Given the description of an element on the screen output the (x, y) to click on. 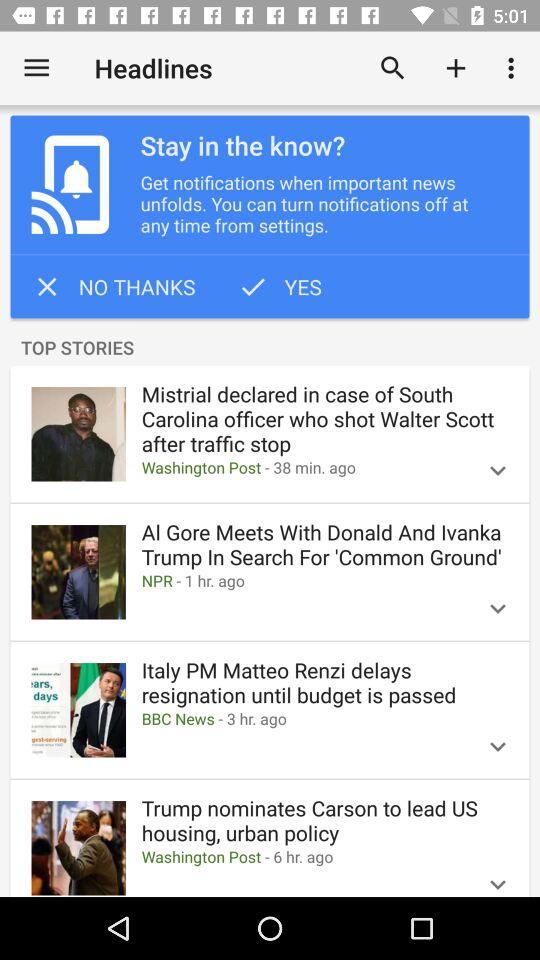
tap item below top stories item (324, 419)
